Given the description of an element on the screen output the (x, y) to click on. 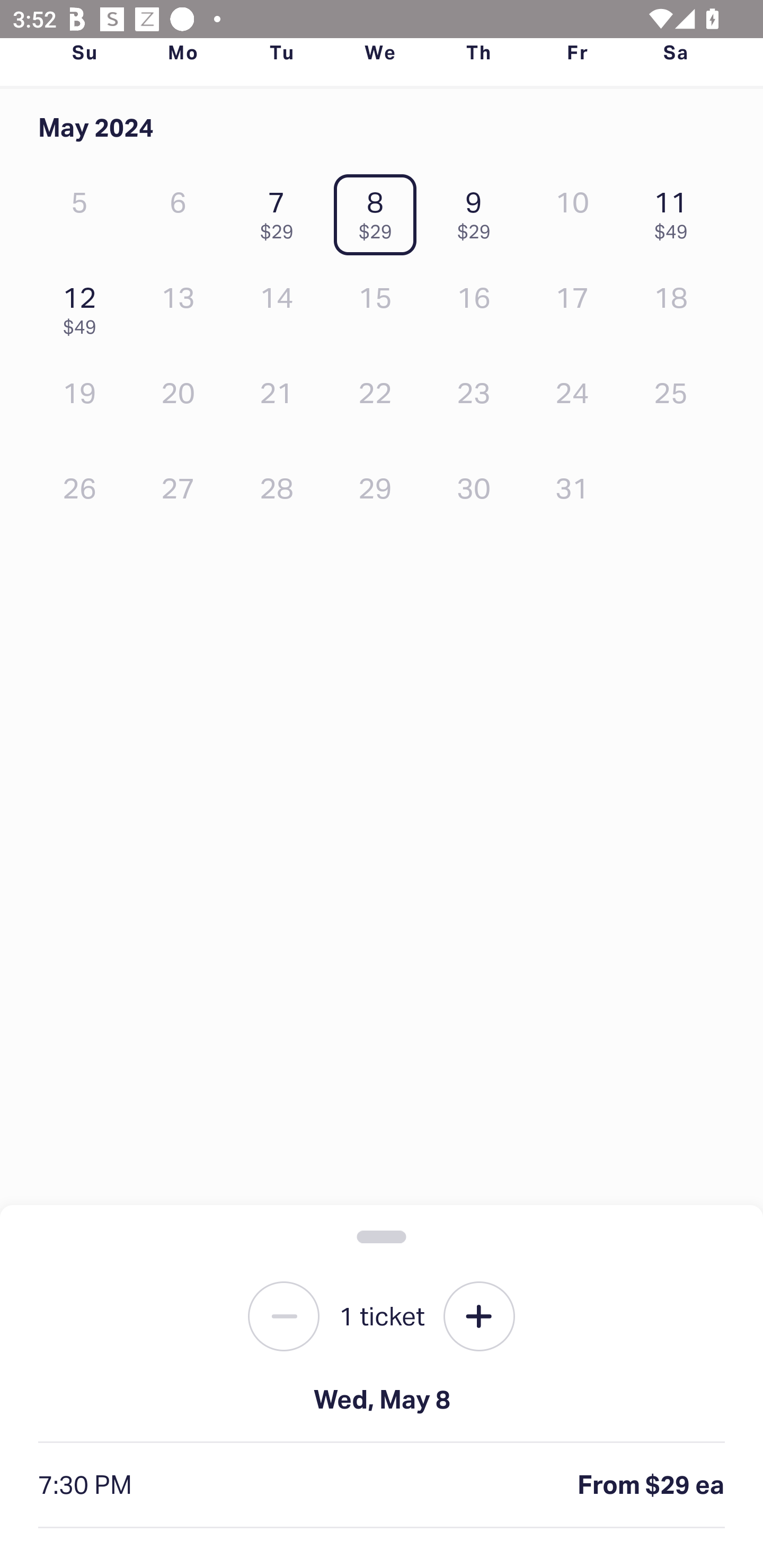
7 $29 (281, 210)
8 $29 (379, 210)
9 $29 (478, 210)
11 $49 (675, 210)
12 $49 (84, 306)
7:30 PM From $29 ea (381, 1485)
